Given the description of an element on the screen output the (x, y) to click on. 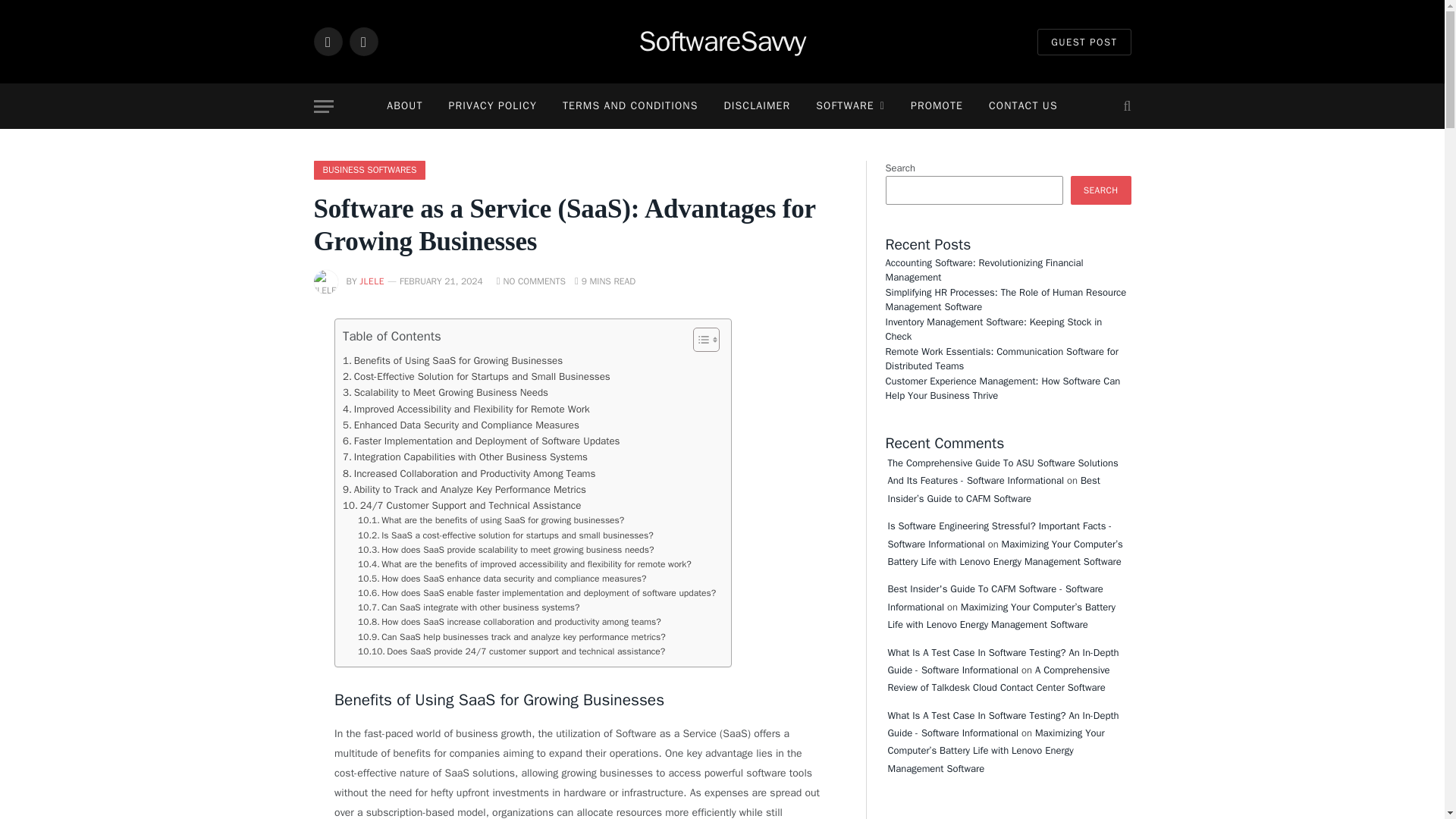
Enhanced Data Security and Compliance Measures (460, 424)
DISCLAIMER (756, 105)
Cost-Effective Solution for Startups and Small Businesses (476, 376)
Benefits of Using SaaS for Growing Businesses (452, 360)
Posts by jlele (371, 281)
Search (1125, 106)
Increased Collaboration and Productivity Among Teams (468, 473)
Scalability to Meet Growing Business Needs (445, 392)
Improved Accessibility and Flexibility for Remote Work (465, 408)
GUEST POST (1083, 41)
Ability to Track and Analyze Key Performance Metrics (464, 489)
Benefits of Using SaaS for Growing Businesses (452, 360)
Cost-Effective Solution for Startups and Small Businesses (476, 376)
JLELE (371, 281)
